Given the description of an element on the screen output the (x, y) to click on. 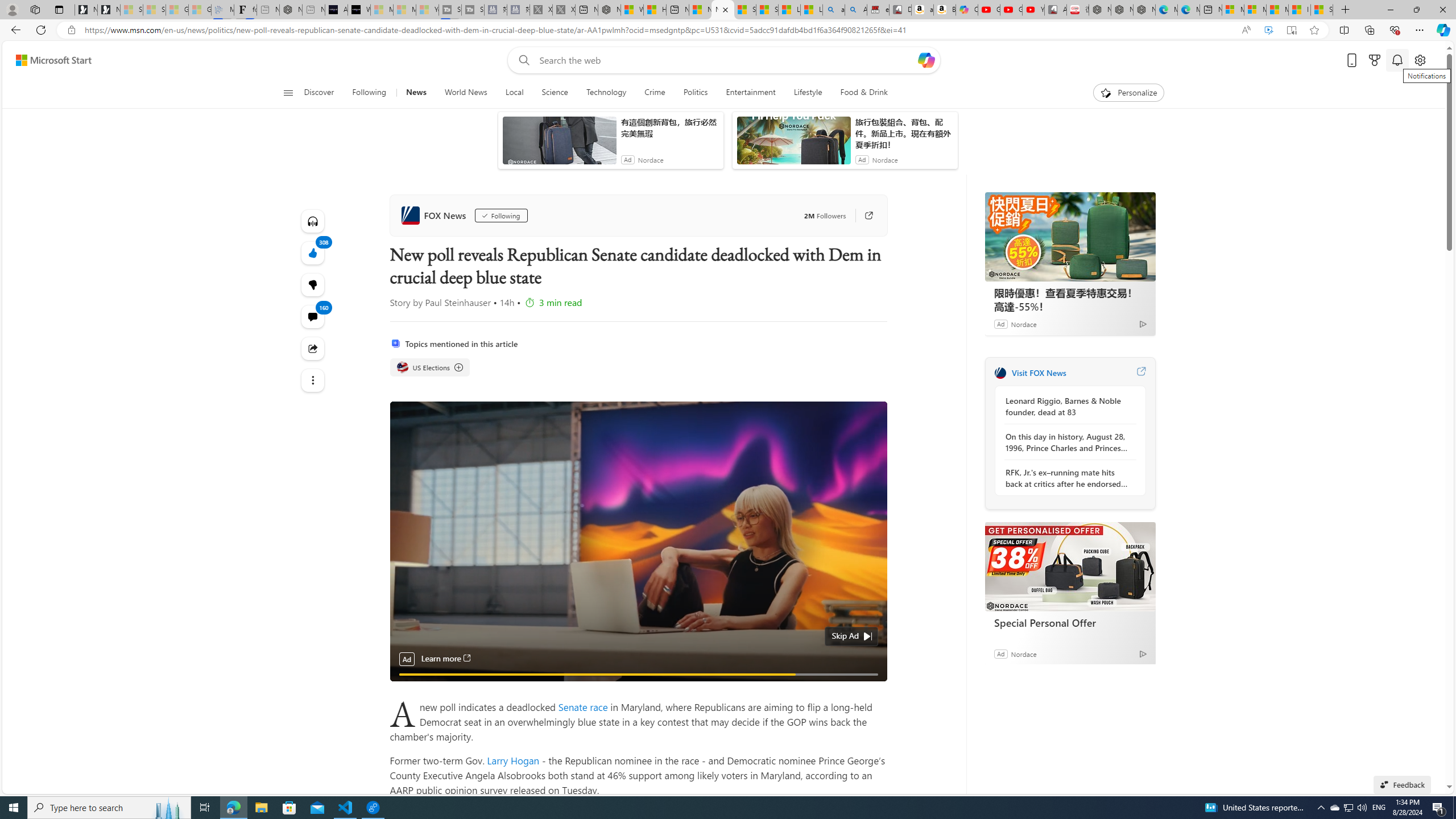
Enter Immersive Reader (F9) (1291, 29)
US Elections (430, 367)
Nordace - My Account (609, 9)
